Given the description of an element on the screen output the (x, y) to click on. 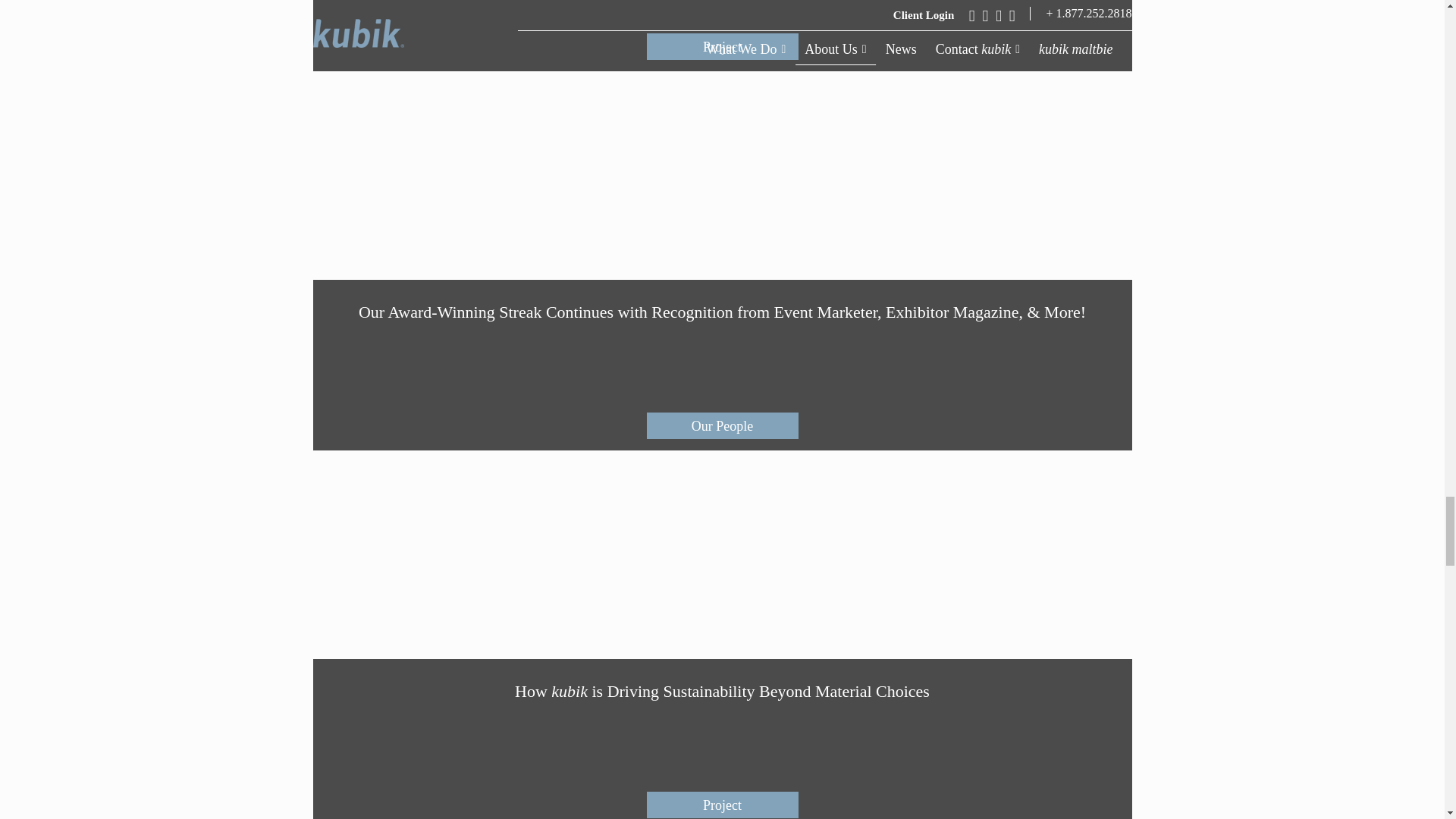
Innovative Approaches to Event Sustainability (722, 35)
